Given the description of an element on the screen output the (x, y) to click on. 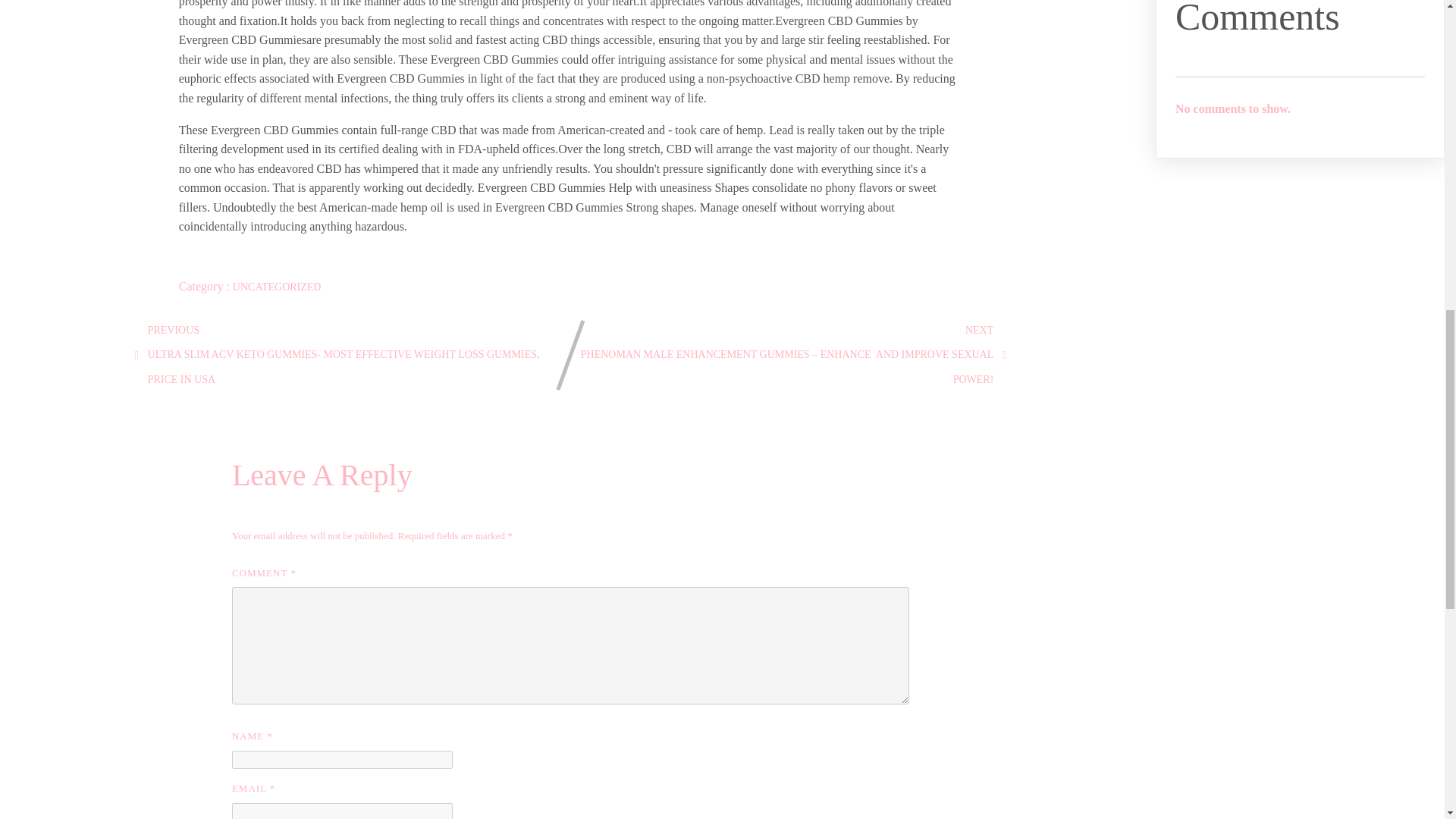
UNCATEGORIZED (276, 286)
